Given the description of an element on the screen output the (x, y) to click on. 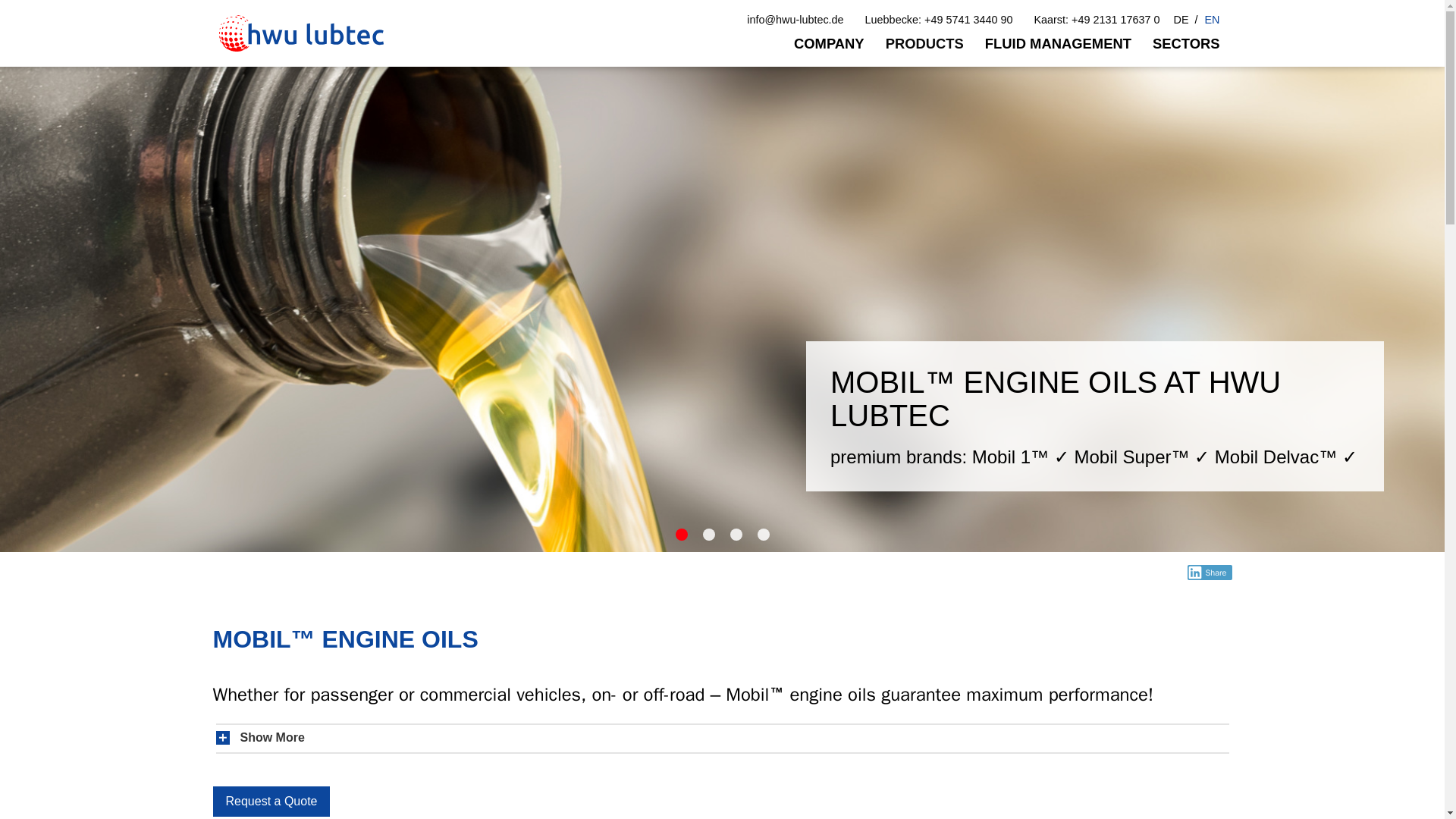
SECTORS (1185, 43)
FLUID MANAGEMENT (1057, 43)
EN (1212, 19)
PRODUCTS (924, 43)
COMPANY (828, 43)
DE (1181, 19)
